Given the description of an element on the screen output the (x, y) to click on. 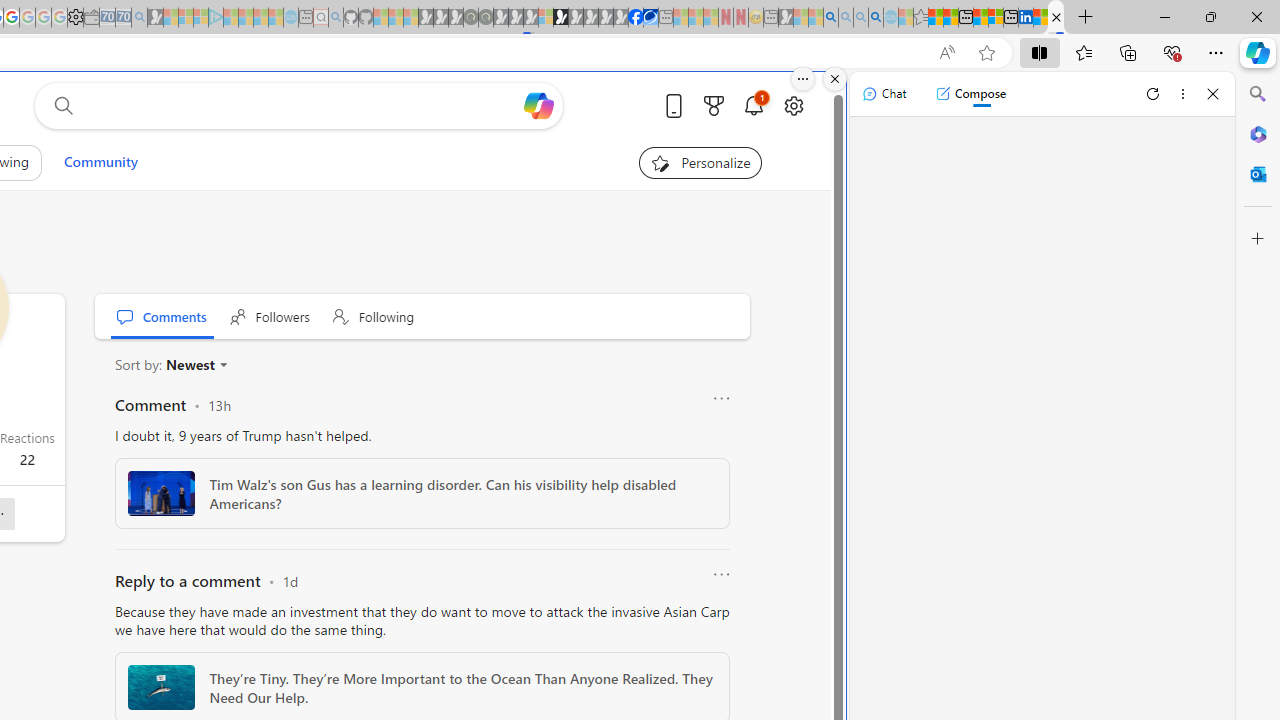
Close split screen. (835, 79)
Stan Ford | Trusted Community Engagement and Contributions (1055, 17)
